Given the description of an element on the screen output the (x, y) to click on. 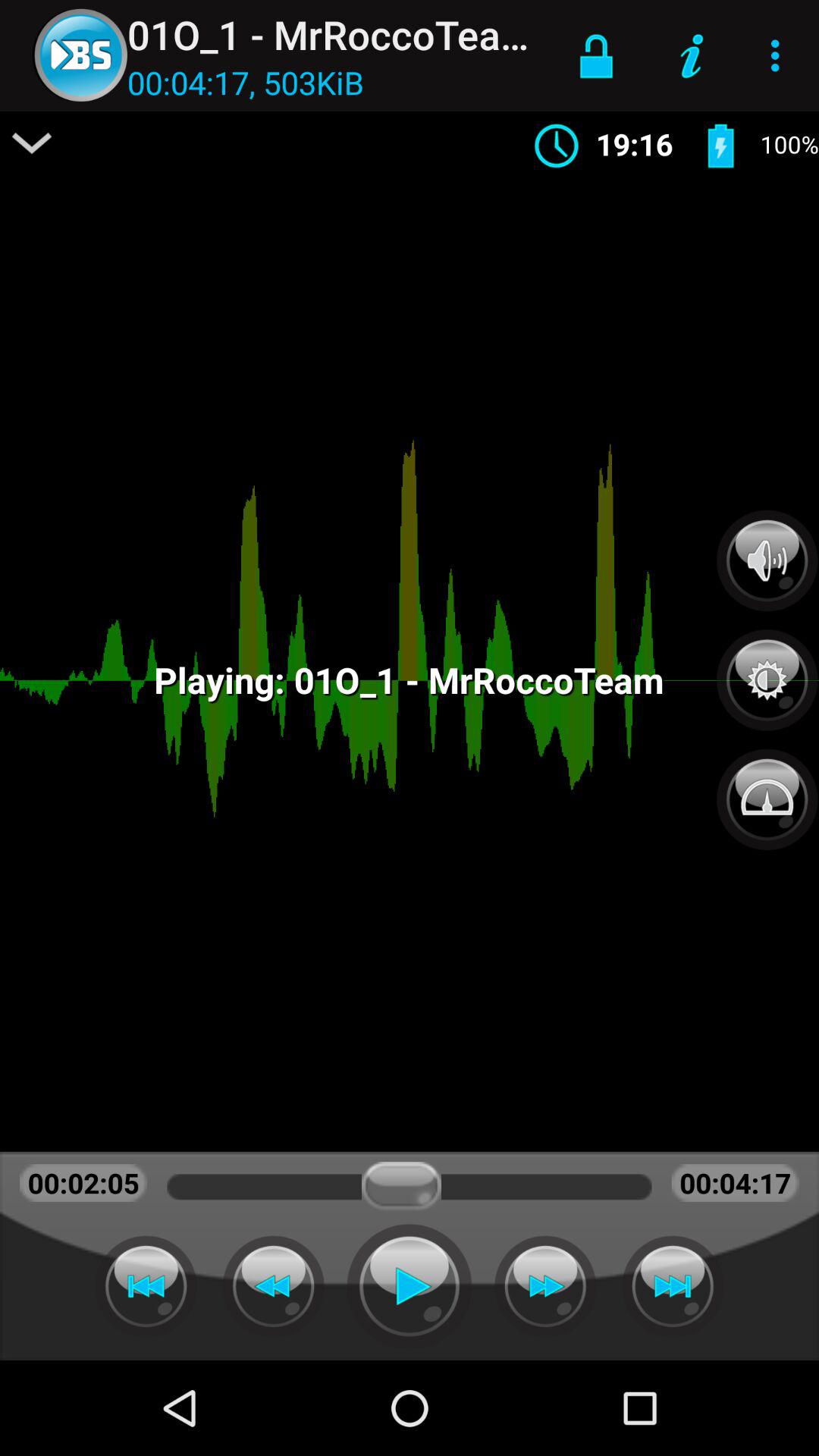
open item to the left of 00 04 17 (31, 143)
